Given the description of an element on the screen output the (x, y) to click on. 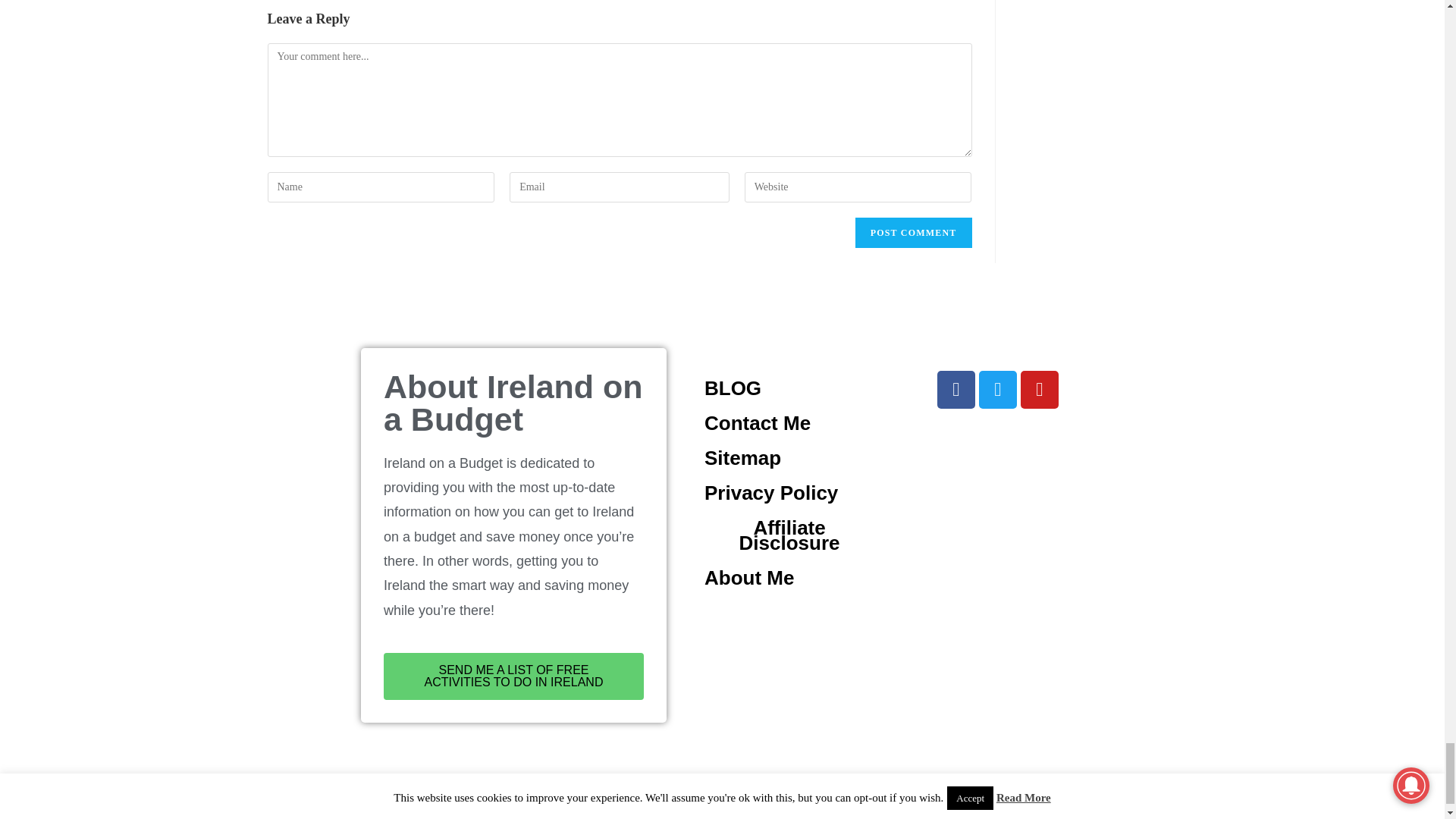
Post Comment (914, 232)
